Given the description of an element on the screen output the (x, y) to click on. 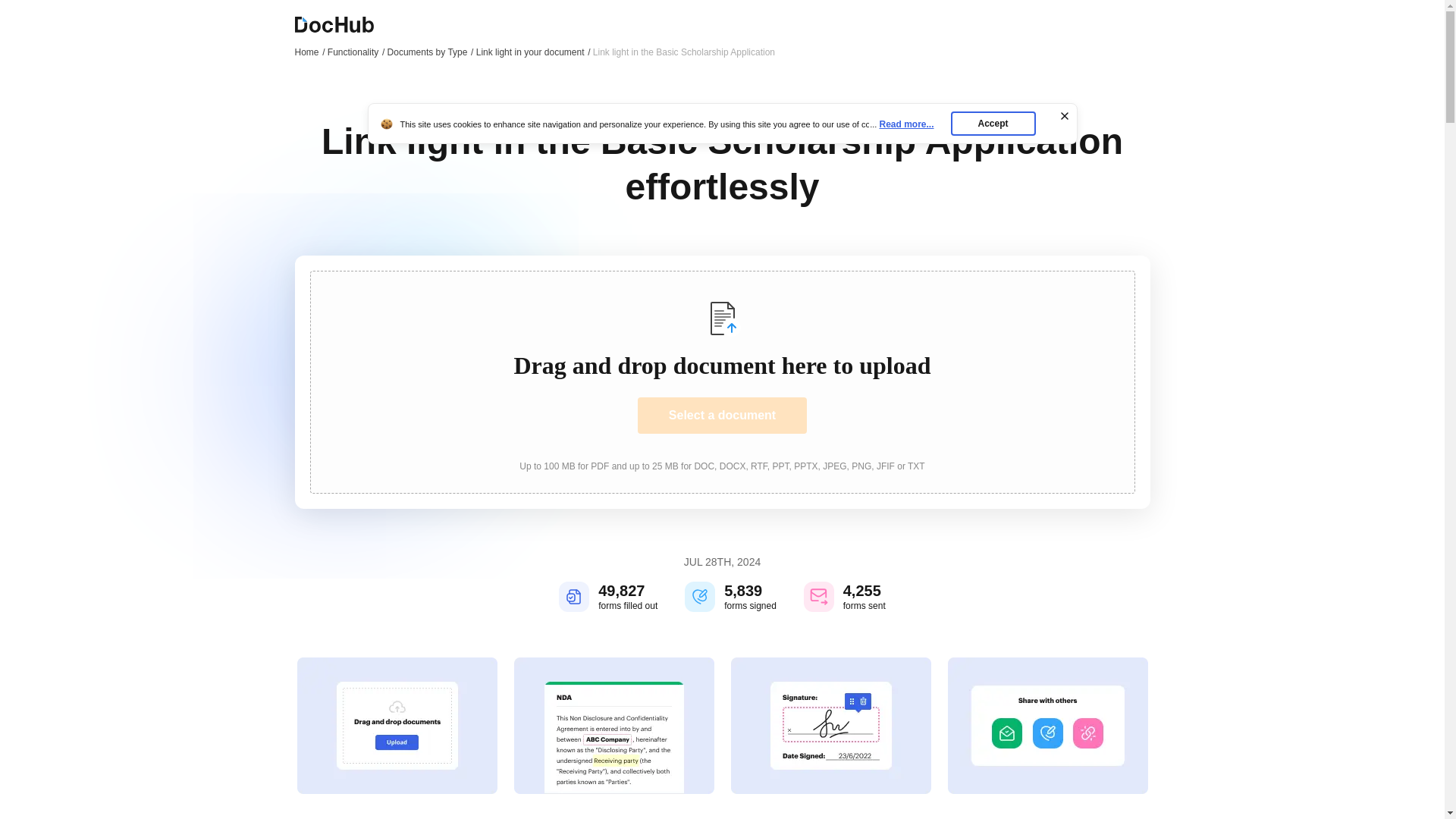
Link light in your document (533, 51)
Home (309, 51)
Documents by Type (430, 51)
Select a document (721, 415)
Functionality (355, 51)
